Given the description of an element on the screen output the (x, y) to click on. 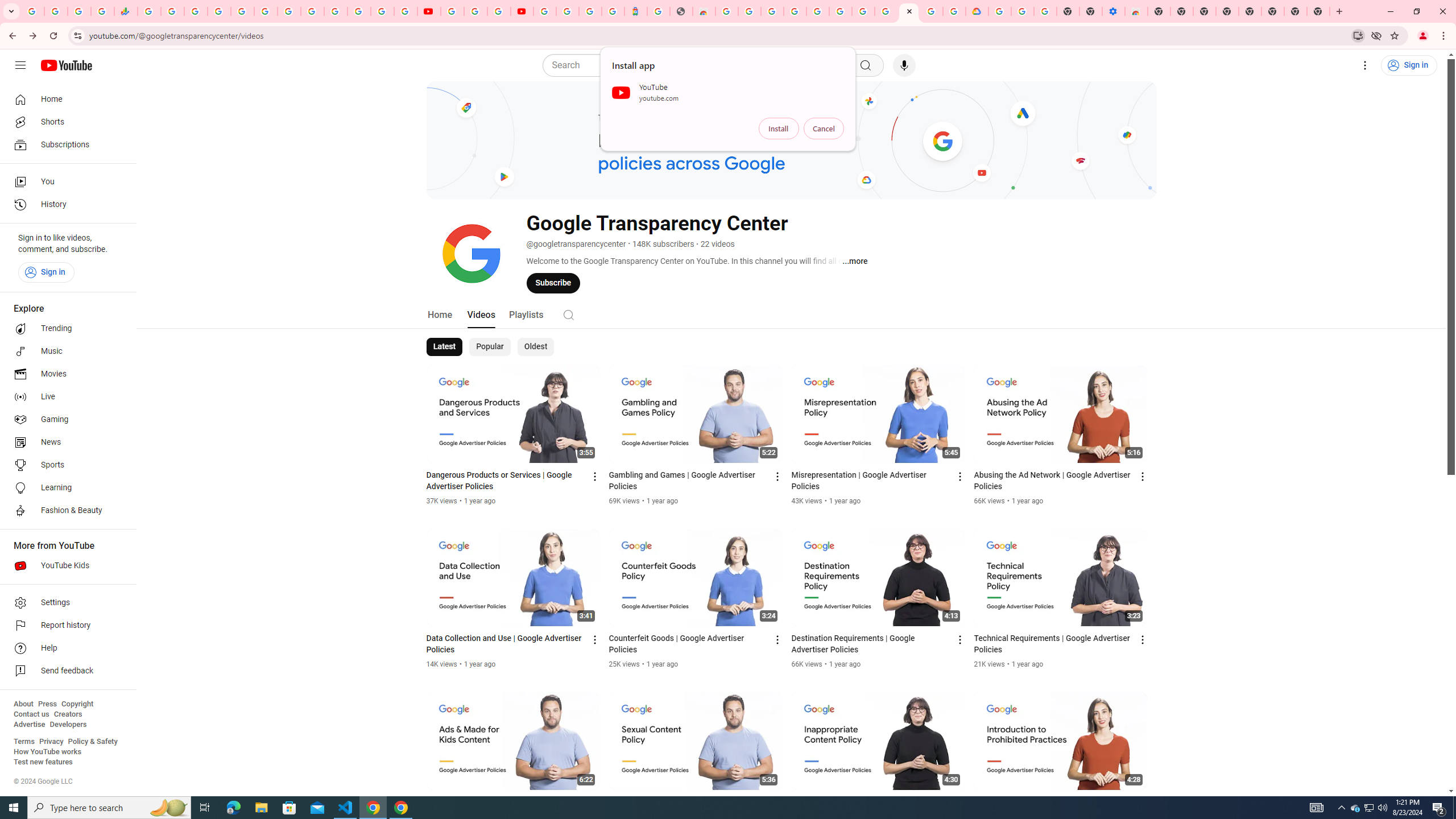
Playlists (525, 314)
Install YouTube (1358, 35)
New Tab (1318, 11)
Subscribe (552, 282)
Chrome Web Store - Accessibility extensions (1136, 11)
Cancel (823, 128)
Sign in - Google Accounts (999, 11)
How YouTube works (47, 751)
Trending (64, 328)
